Given the description of an element on the screen output the (x, y) to click on. 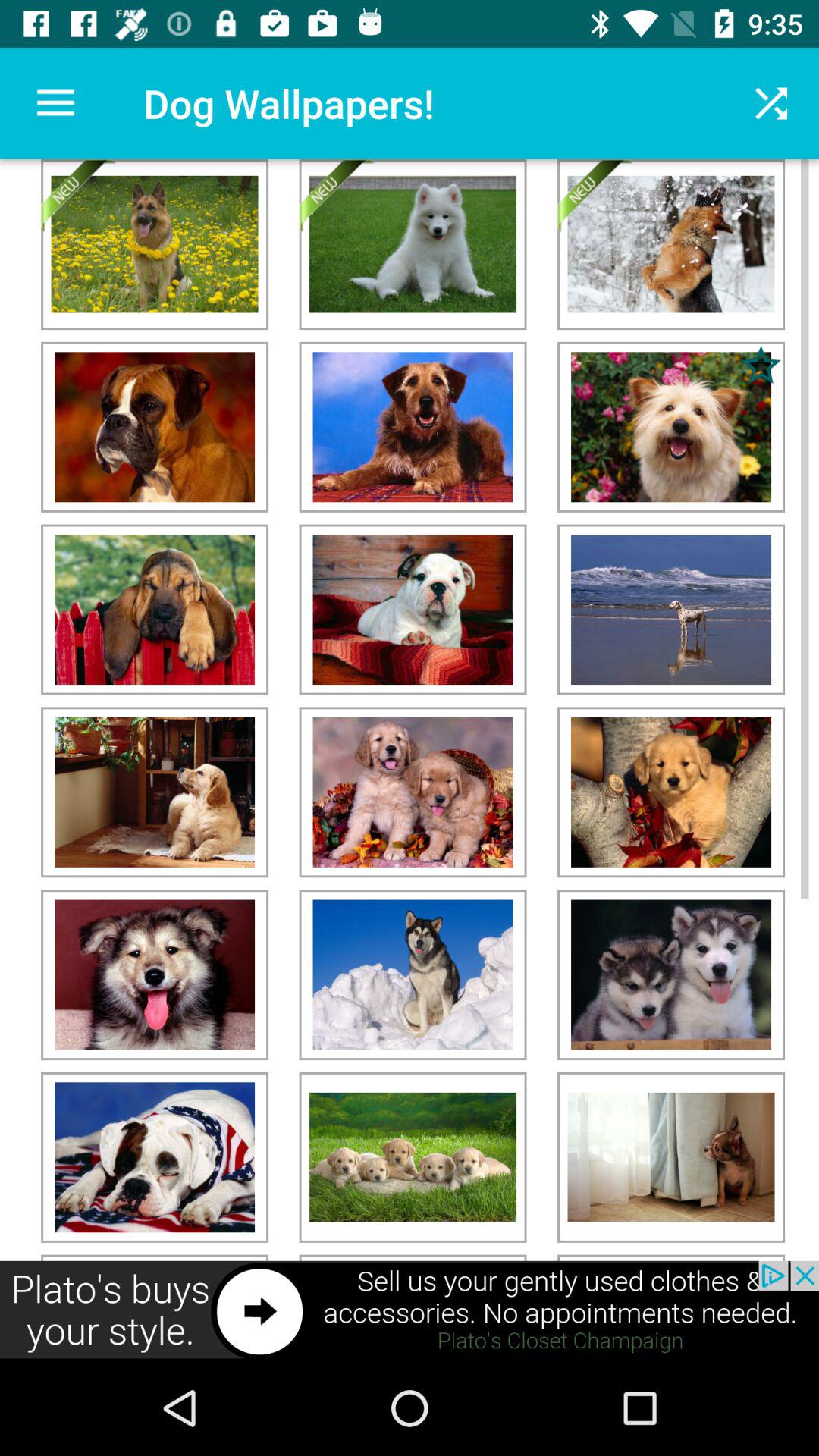
view advertisement (409, 1310)
